Given the description of an element on the screen output the (x, y) to click on. 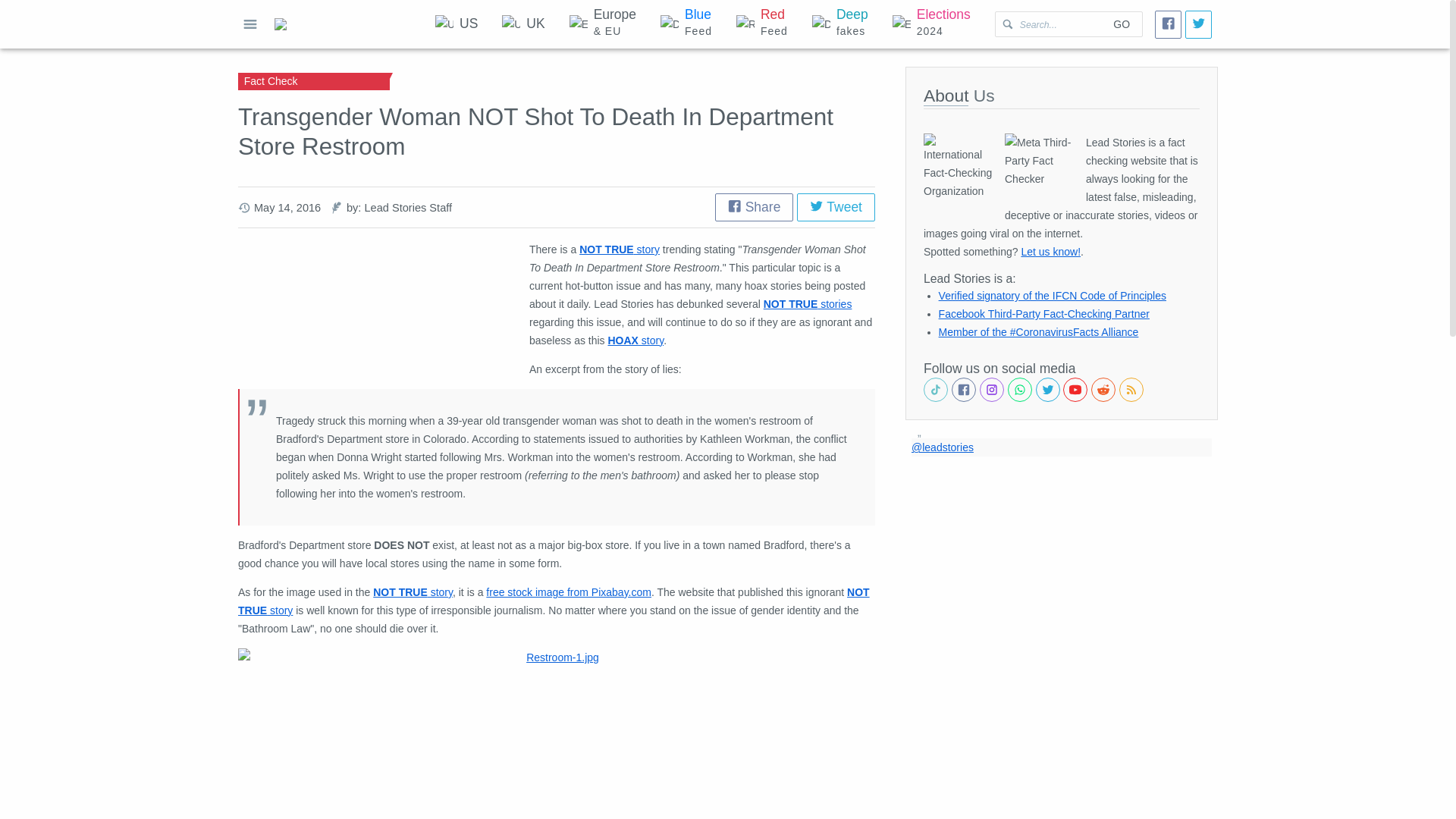
OPEN FULL MENU (250, 24)
Facebook Third-Party Fact-Checking Partner (1044, 313)
NOT TRUE stories (806, 304)
GO (1120, 24)
free stock image from Pixabay.com (568, 592)
HOAX story (635, 340)
Let us know! (1050, 251)
